Given the description of an element on the screen output the (x, y) to click on. 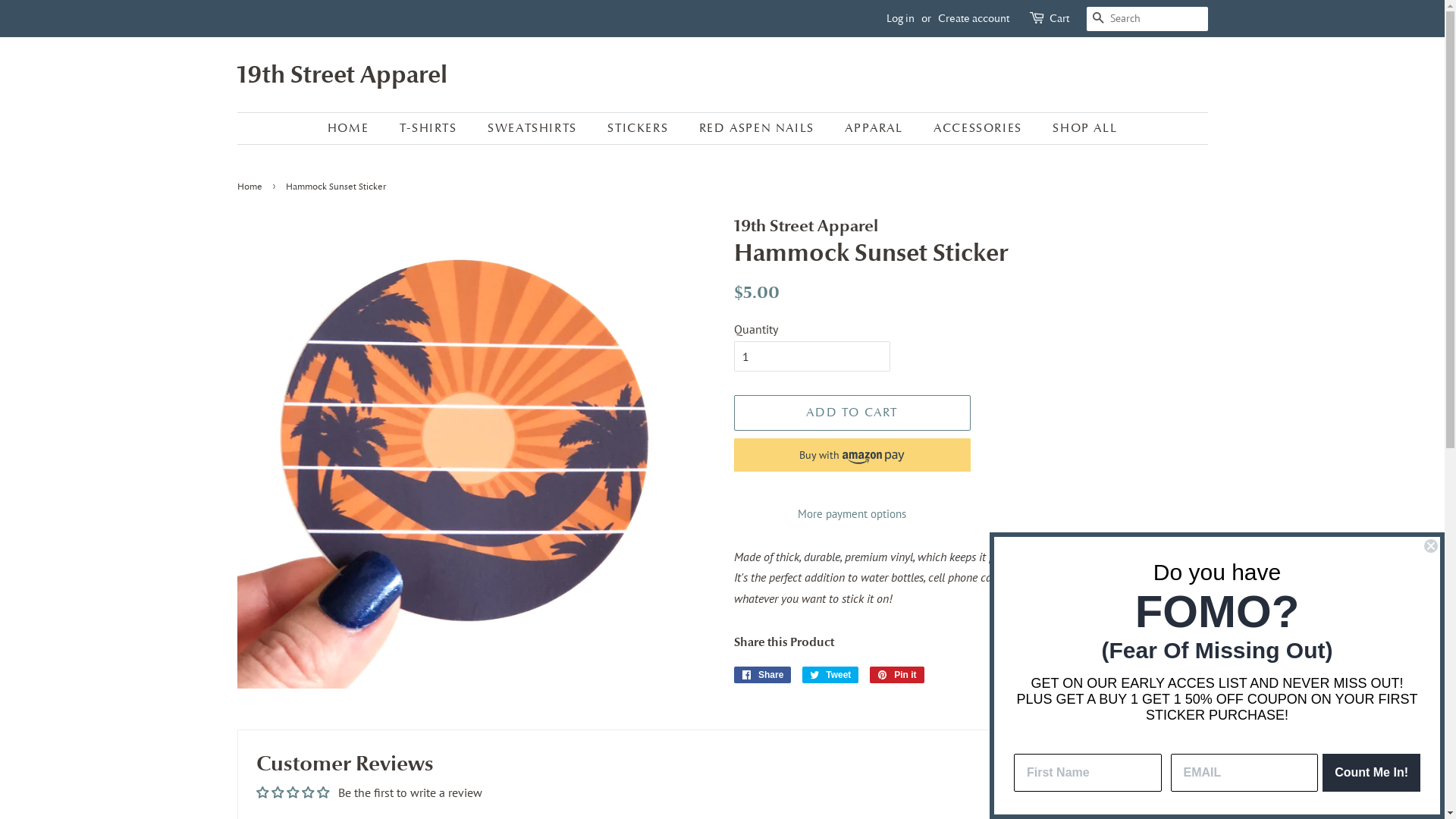
Home Element type: text (250, 186)
HOME Element type: text (355, 128)
T-SHIRTS Element type: text (430, 128)
Write a review Element type: text (1143, 796)
SWEATSHIRTS Element type: text (534, 128)
Create account Element type: text (972, 18)
Submit Element type: text (38, 17)
RED ASPEN NAILS Element type: text (758, 128)
Pin it
Pin on Pinterest Element type: text (896, 674)
Share
Share on Facebook Element type: text (762, 674)
APPARAL Element type: text (875, 128)
STICKERS Element type: text (639, 128)
ACCESSORIES Element type: text (979, 128)
Log in Element type: text (899, 18)
More payment options Element type: text (852, 513)
SEARCH Element type: text (1097, 18)
Count Me In! Element type: text (1371, 772)
ADD TO CART Element type: text (852, 412)
SHOP ALL Element type: text (1079, 128)
Tweet
Tweet on Twitter Element type: text (830, 674)
19th Street Apparel Element type: text (341, 73)
Buy now with Amazon Pay
Buy with  Element type: text (852, 454)
Cart Element type: text (1059, 18)
